Given the description of an element on the screen output the (x, y) to click on. 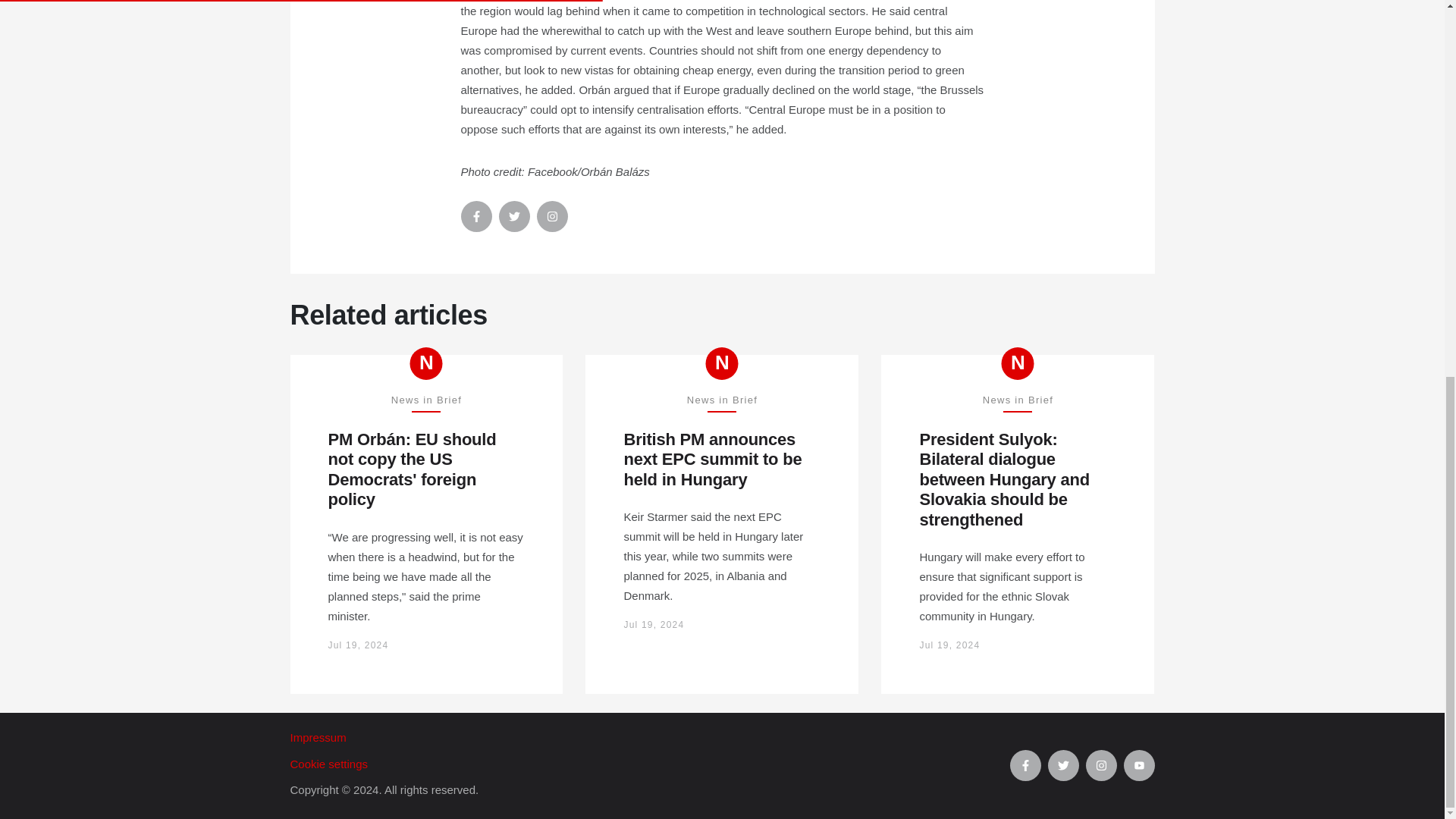
Instagram icon (1101, 765)
N (722, 363)
News in Brief (426, 363)
British PM announces next EPC summit to be held in Hungary (722, 459)
N (1017, 363)
News in Brief (722, 363)
N (426, 363)
News in Brief (1017, 363)
Twitter icon (1063, 765)
British PM announces next EPC summit to be held in Hungary (722, 459)
Facebook icon (1025, 765)
Twitter- icon (514, 215)
Impressum (649, 737)
